Given the description of an element on the screen output the (x, y) to click on. 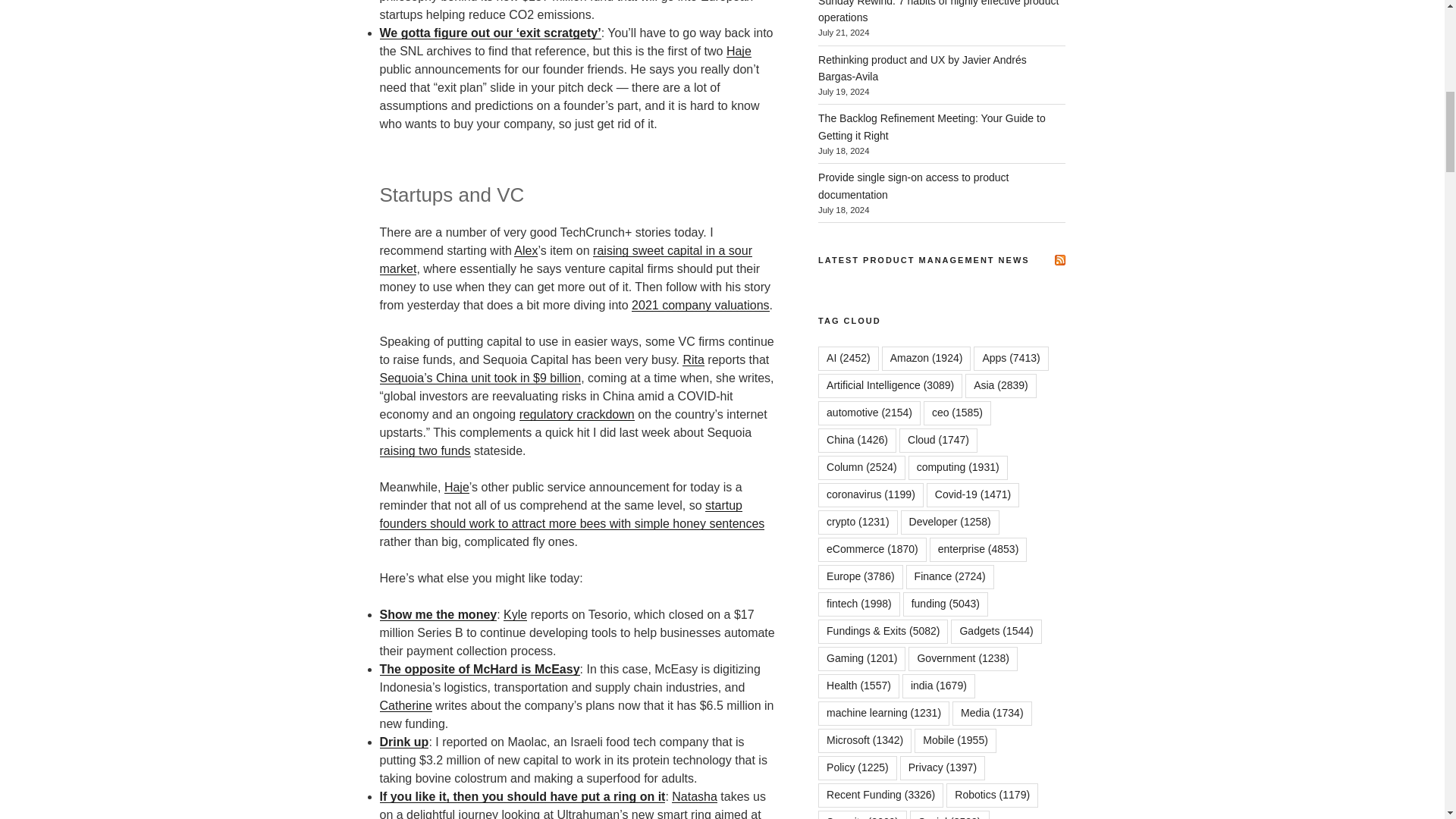
Catherine (404, 705)
Show me the money (437, 614)
Kyle (515, 614)
Haje (456, 486)
Natasha (694, 796)
Rita (692, 359)
The opposite of McHard is McEasy (478, 668)
If you like it, then you should have put a ring on it (521, 796)
raising sweet capital in a sour market (565, 259)
regulatory crackdown (576, 413)
2021 company valuations (699, 305)
raising two funds (424, 450)
Drink up (403, 741)
Haje (738, 51)
Alex (525, 250)
